Given the description of an element on the screen output the (x, y) to click on. 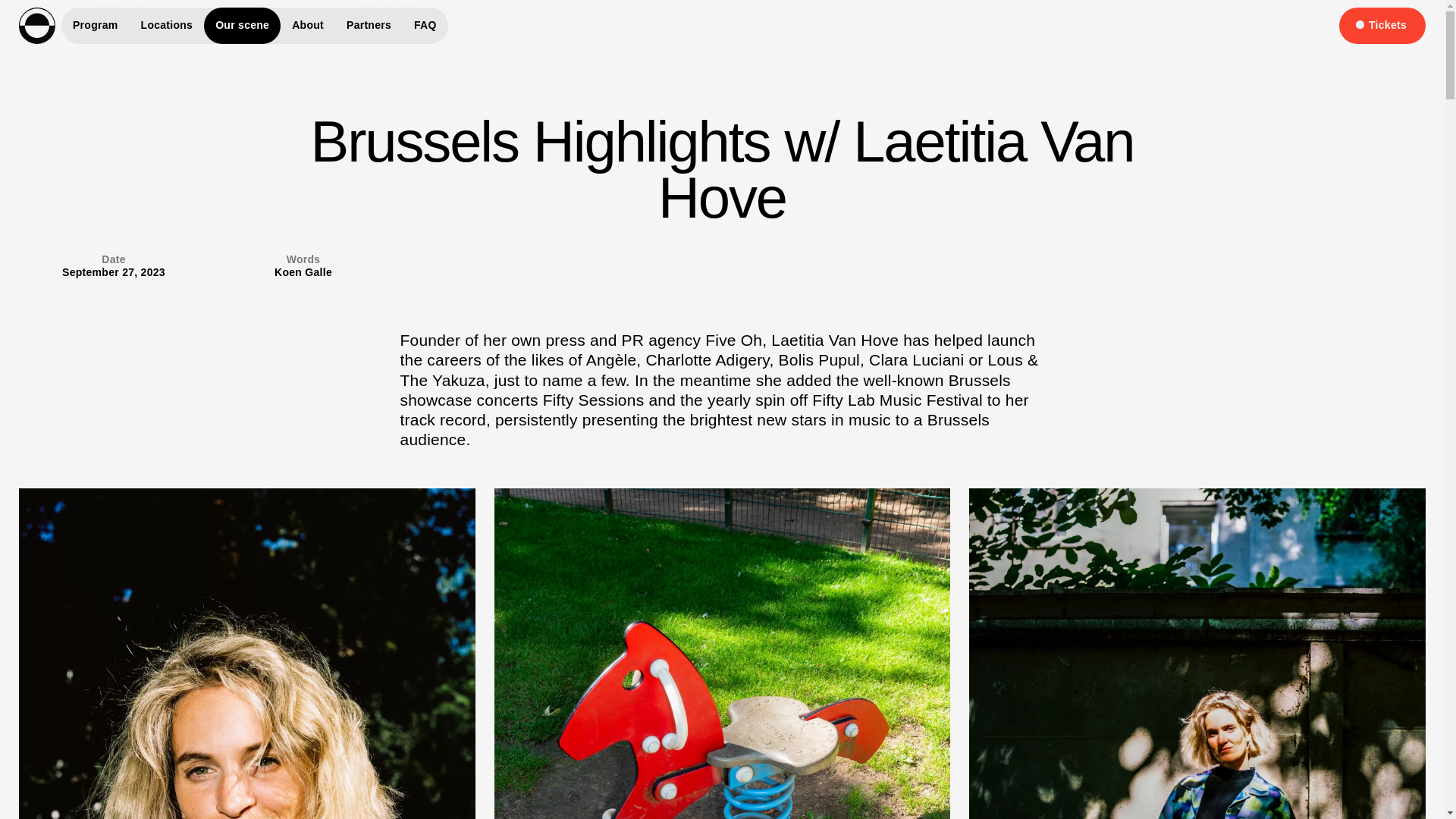
Partners (368, 25)
Program (95, 25)
About (307, 25)
Our scene (242, 25)
Tickets (1382, 25)
Locations (167, 25)
FAQ (425, 25)
